Given the description of an element on the screen output the (x, y) to click on. 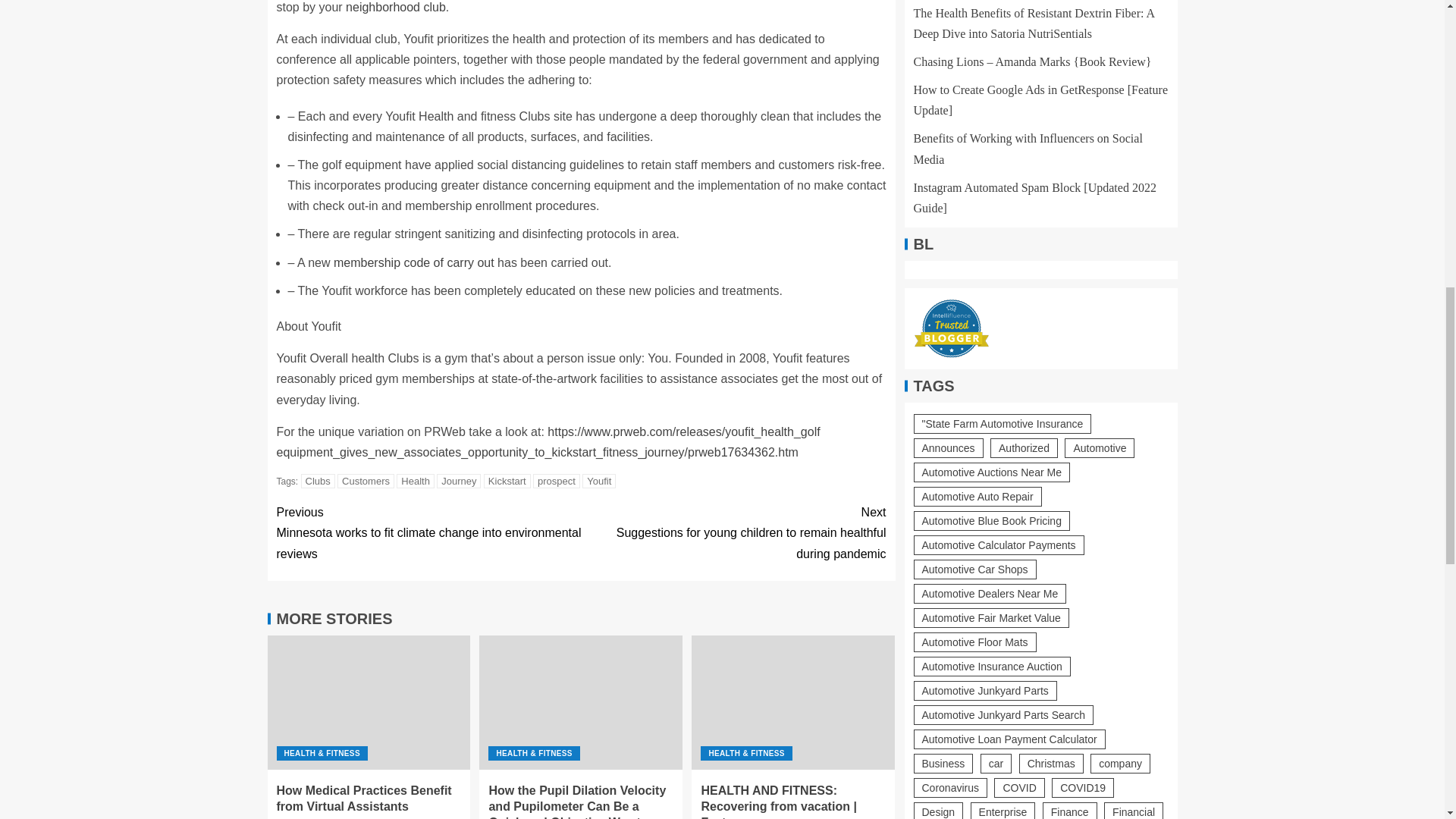
prospect (555, 481)
Youfit (598, 481)
Clubs (317, 481)
Local Club (395, 6)
Kickstart (507, 481)
Customers (365, 481)
Health (414, 481)
neighborhood club (395, 6)
